Given the description of an element on the screen output the (x, y) to click on. 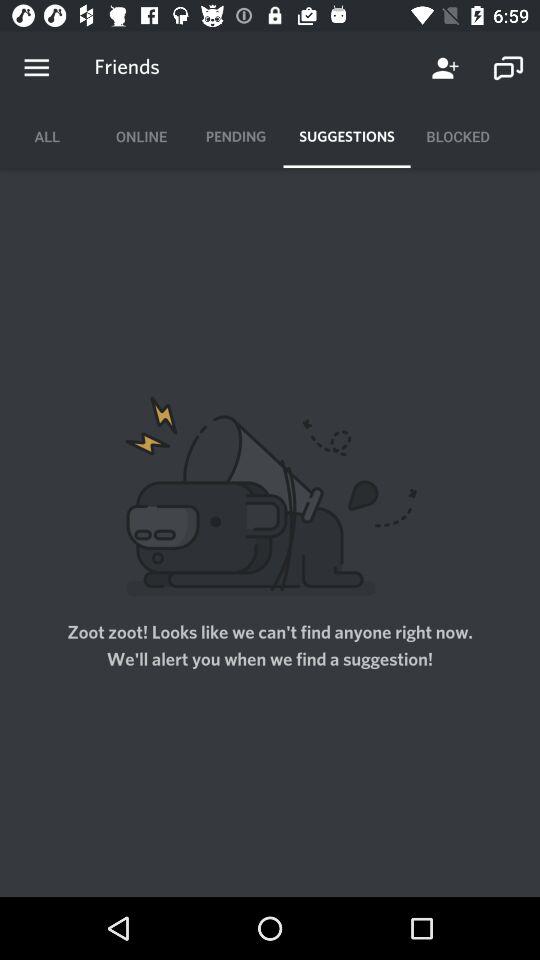
choose the icon above blocked (508, 67)
